Given the description of an element on the screen output the (x, y) to click on. 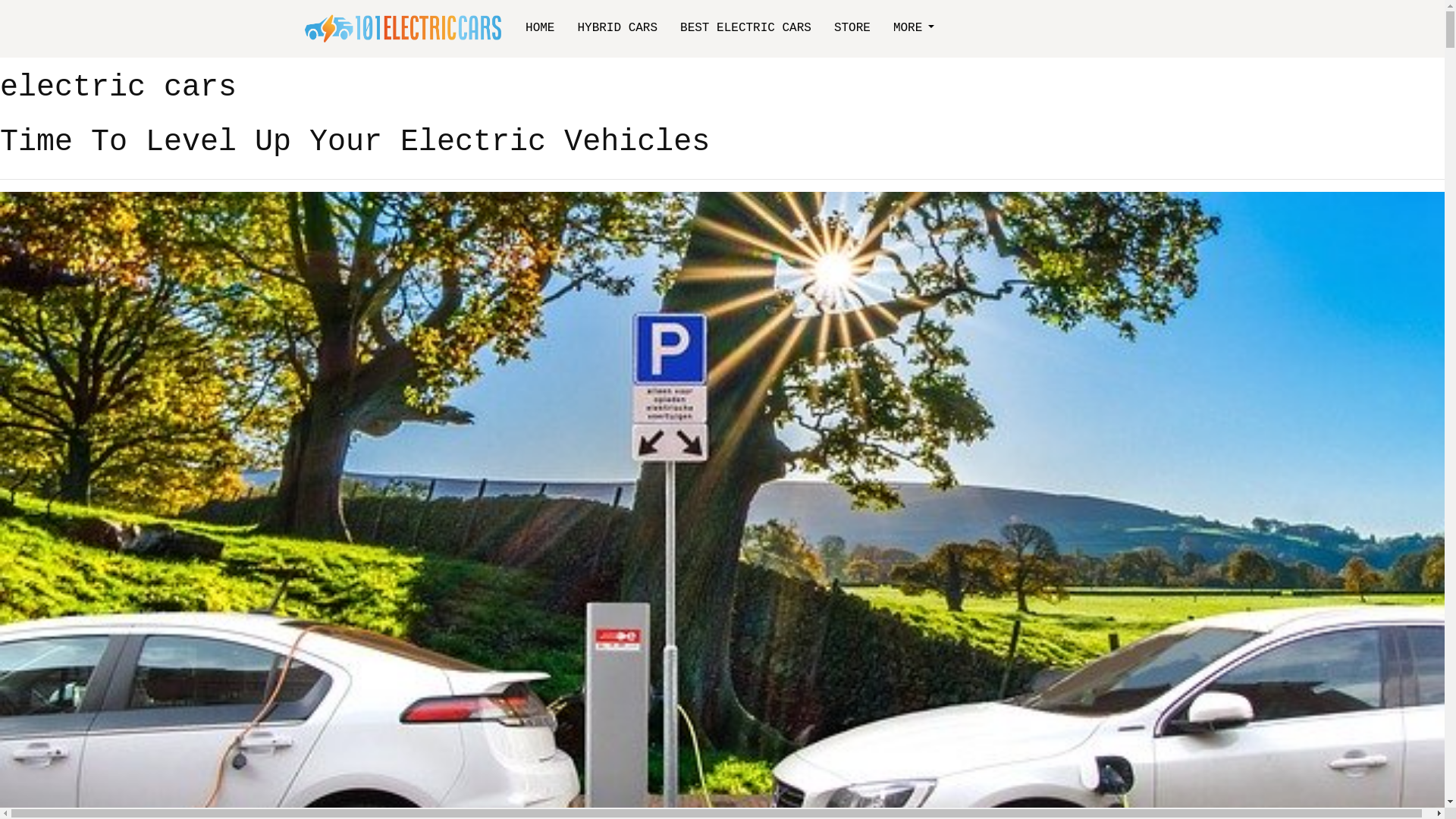
HYBRID CARS Element type: text (617, 27)
STORE Element type: text (852, 27)
HOME Element type: text (539, 27)
BEST ELECTRIC CARS Element type: text (745, 27)
MORE Element type: text (913, 27)
